Given the description of an element on the screen output the (x, y) to click on. 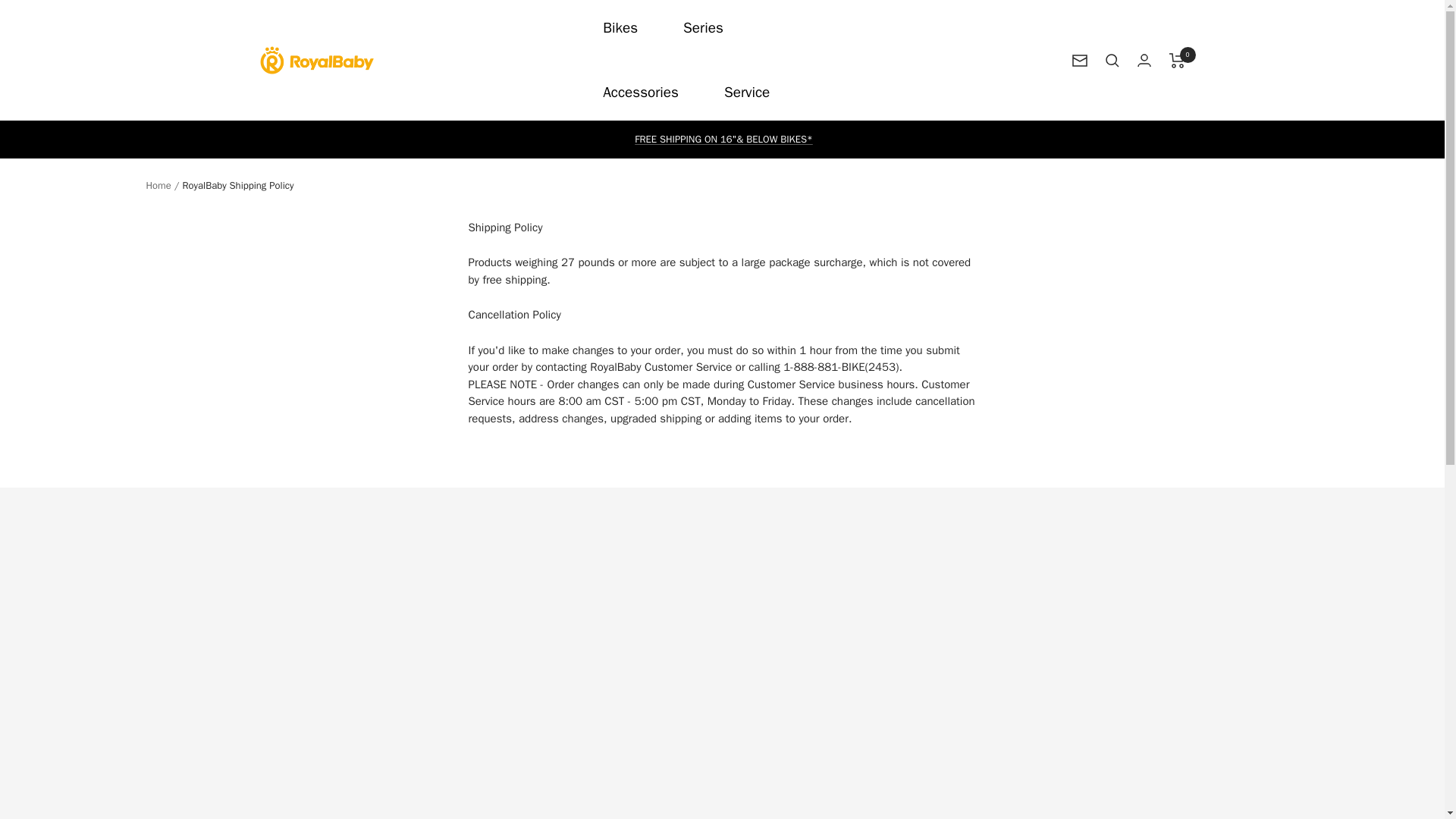
Bikes (620, 28)
0 (1177, 60)
Service (746, 93)
Accessories (640, 93)
Series (703, 28)
RoyalBaby (315, 59)
Newsletter (1079, 60)
